Given the description of an element on the screen output the (x, y) to click on. 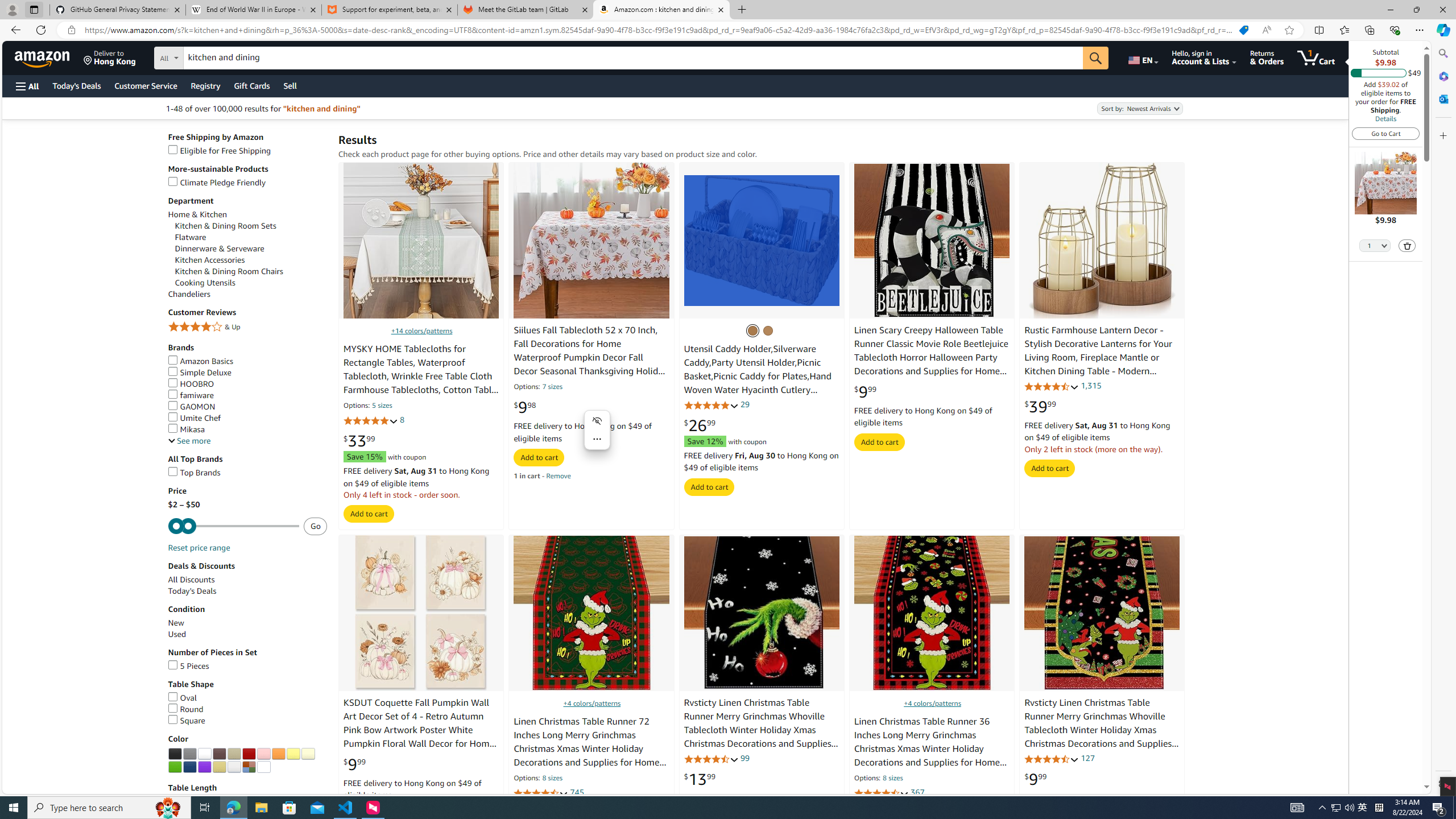
99 (744, 757)
Oval (181, 697)
8 sizes (892, 778)
Green (174, 766)
Umite Chef (194, 417)
367 (917, 792)
AutomationID: p_n_feature_twenty_browse-bin/3254098011 (174, 753)
Orange (277, 753)
4.3 out of 5 stars (1051, 386)
